Given the description of an element on the screen output the (x, y) to click on. 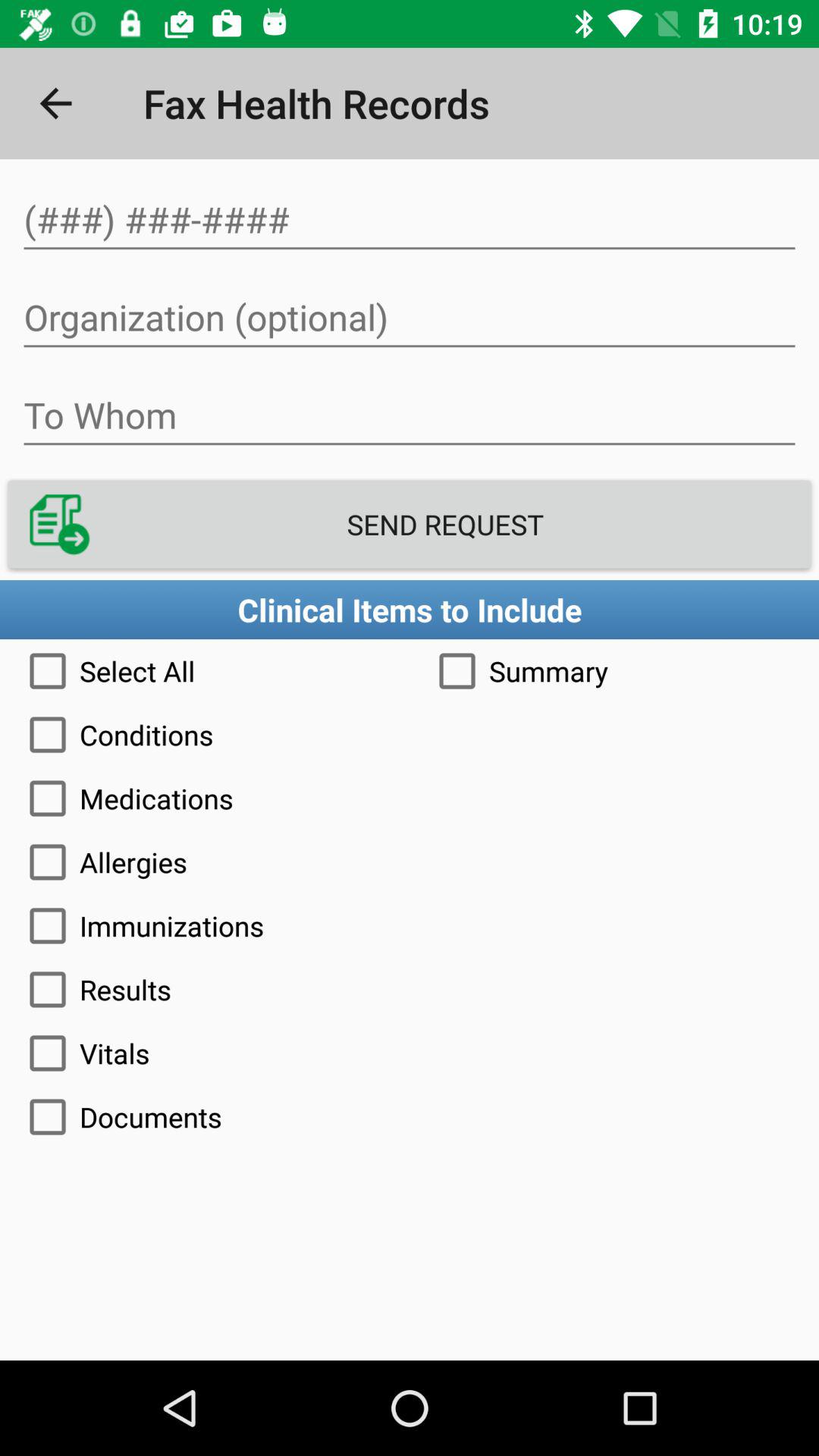
click item above vitals item (409, 989)
